Given the description of an element on the screen output the (x, y) to click on. 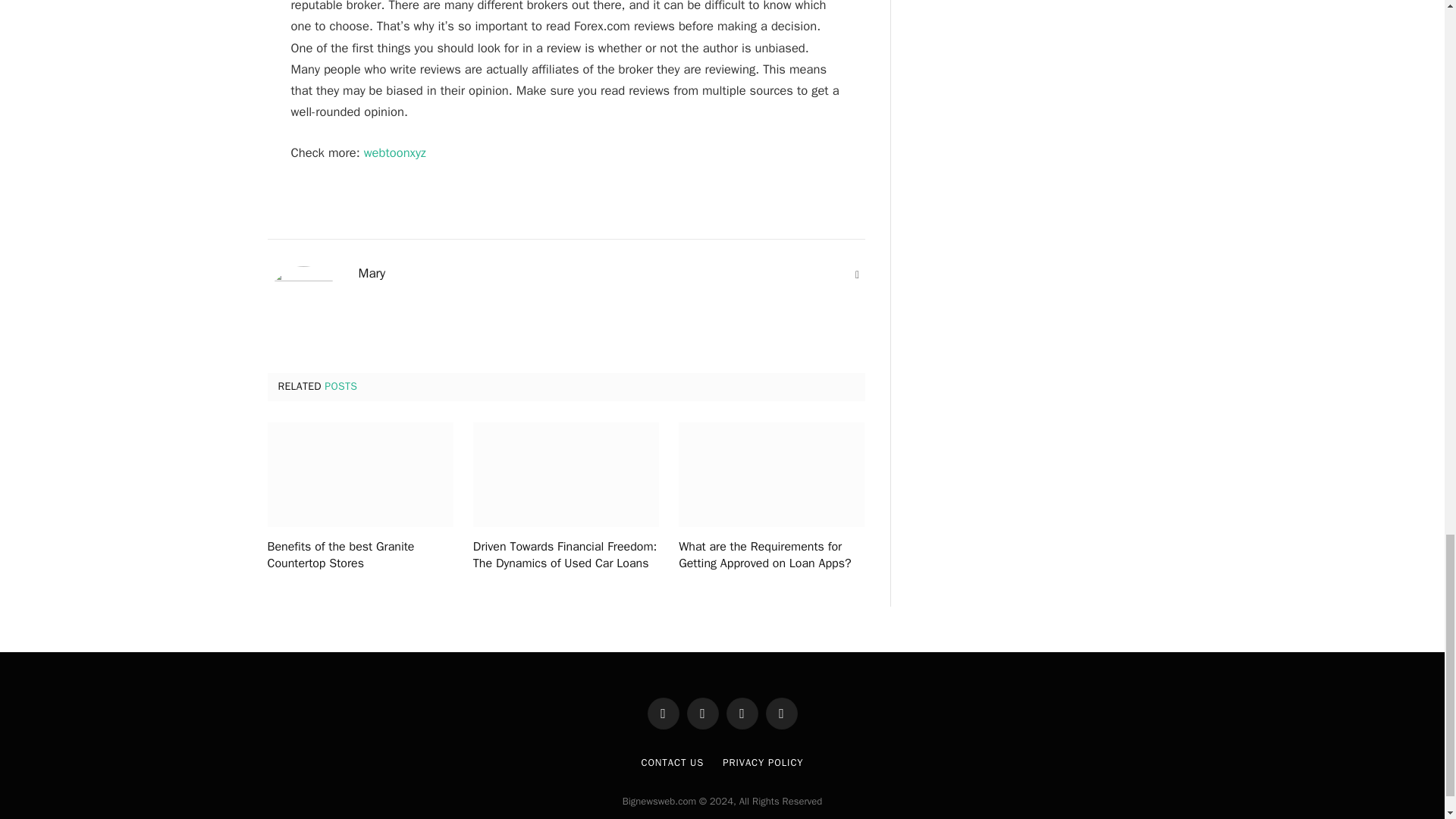
Posts by Mary (371, 273)
Website (856, 274)
What are the Requirements for Getting Approved on Loan Apps? (771, 474)
Benefits of the best Granite Countertop Stores (359, 474)
webtoonxyz (395, 152)
What are the Requirements for Getting Approved on Loan Apps? (771, 555)
Benefits of the best Granite Countertop Stores (359, 555)
Mary (371, 273)
